Given the description of an element on the screen output the (x, y) to click on. 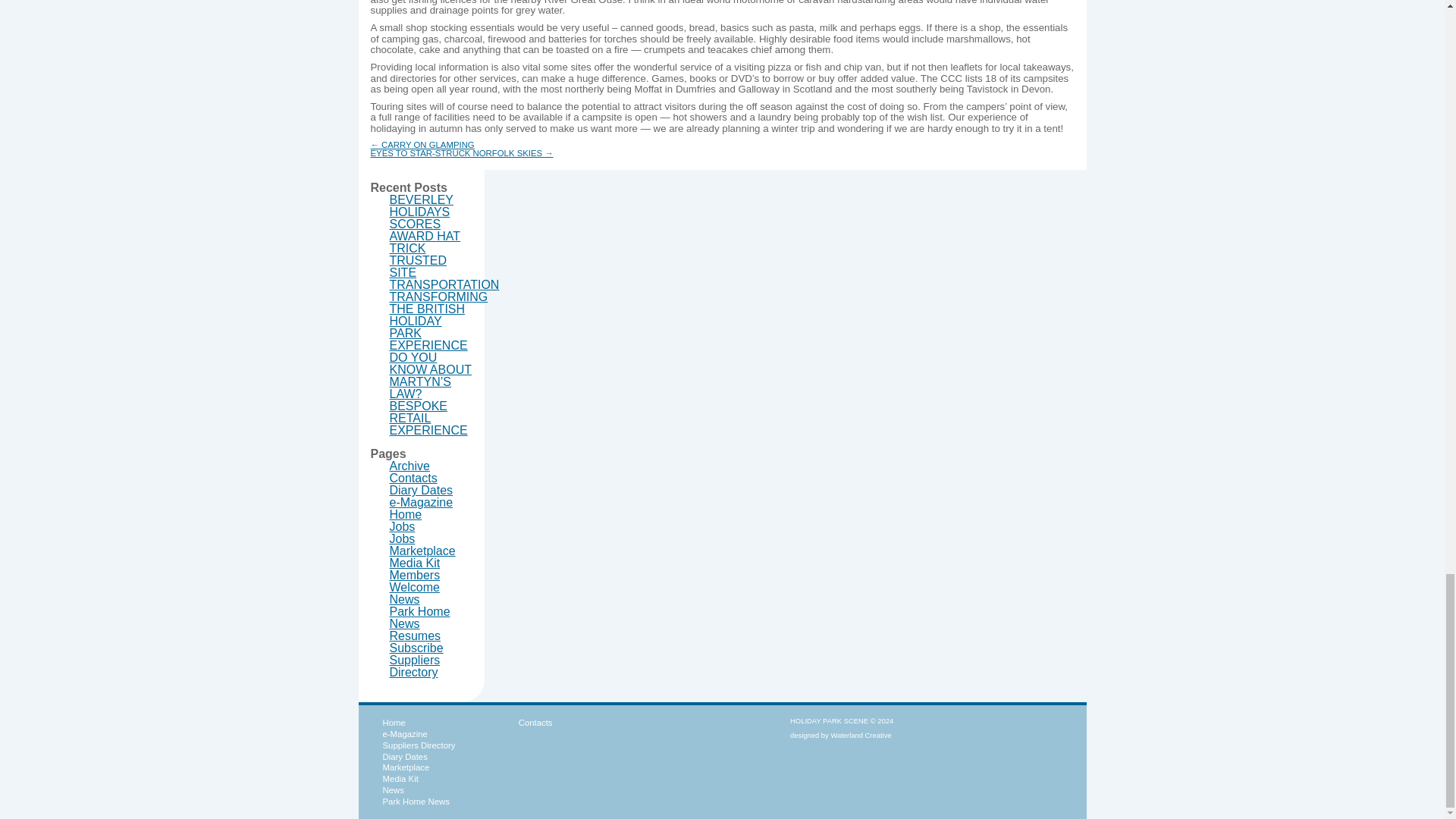
e-Magazine (421, 502)
Marketplace (405, 767)
Home (392, 722)
Contacts (414, 477)
News (405, 599)
Diary Dates (421, 490)
Suppliers Directory (415, 665)
BESPOKE RETAIL EXPERIENCE (428, 417)
Resumes (415, 635)
Members Welcome (415, 580)
